Given the description of an element on the screen output the (x, y) to click on. 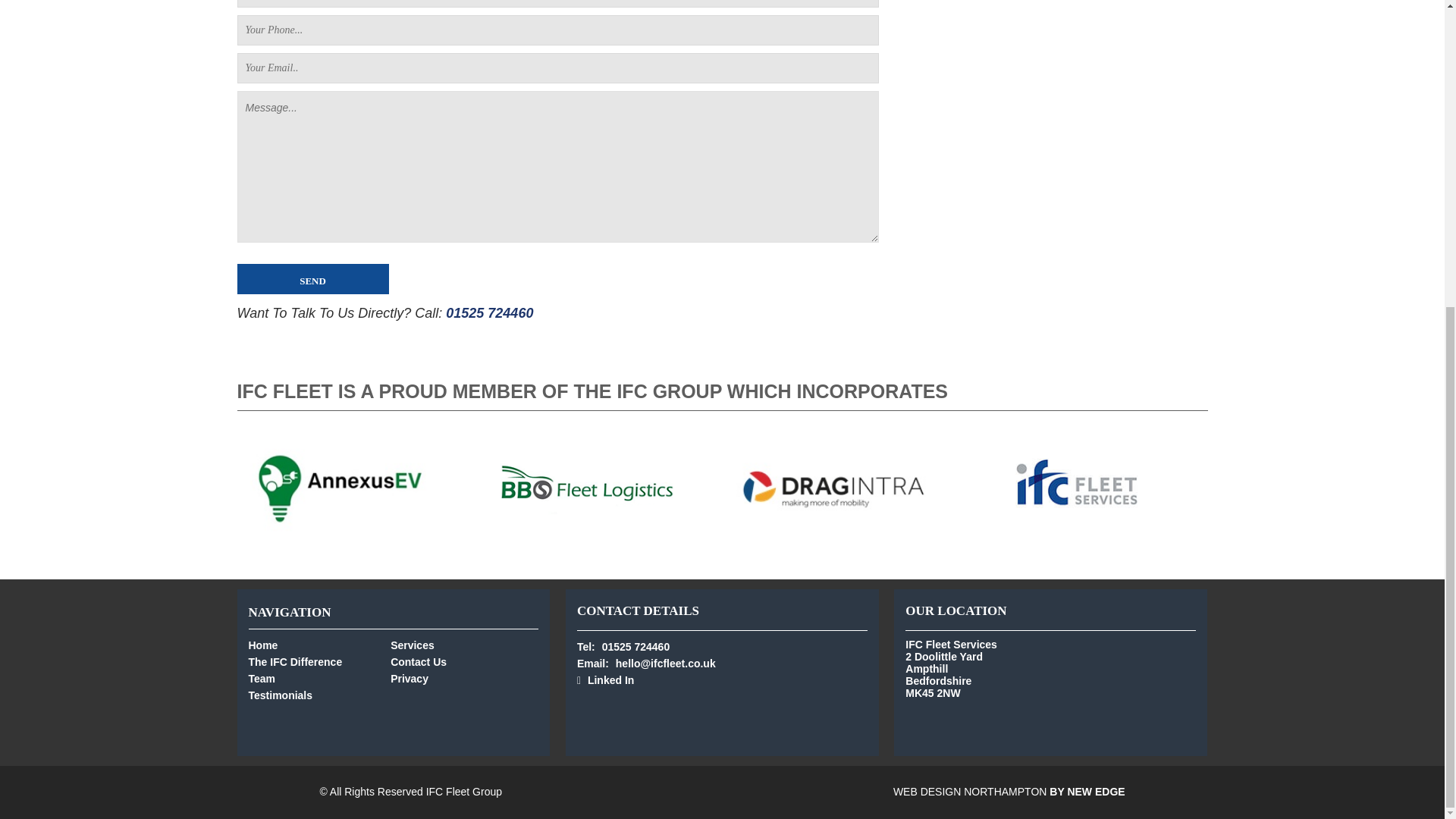
Privacy (461, 678)
Home (319, 645)
The IFC Difference (319, 661)
Contact Us (461, 661)
tel:01525 724460 (488, 313)
Email (721, 663)
01525 724460 (488, 313)
Send (311, 278)
New Edge (969, 791)
Team (319, 678)
Linked In (721, 679)
WEB DESIGN NORTHAMPTON (969, 791)
Send (311, 278)
phone (721, 646)
Services (461, 645)
